Given the description of an element on the screen output the (x, y) to click on. 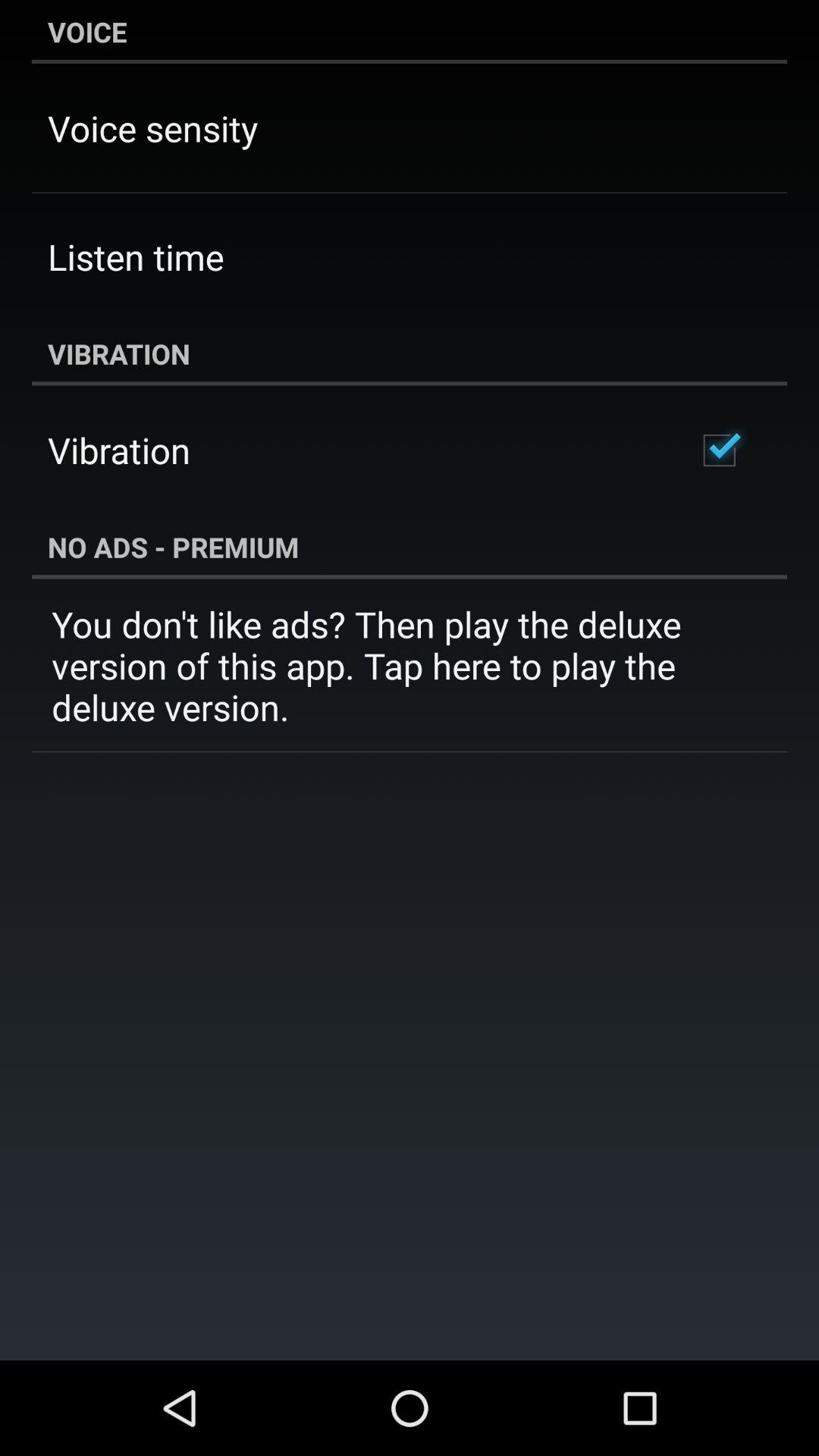
click item above the you don t item (409, 546)
